Given the description of an element on the screen output the (x, y) to click on. 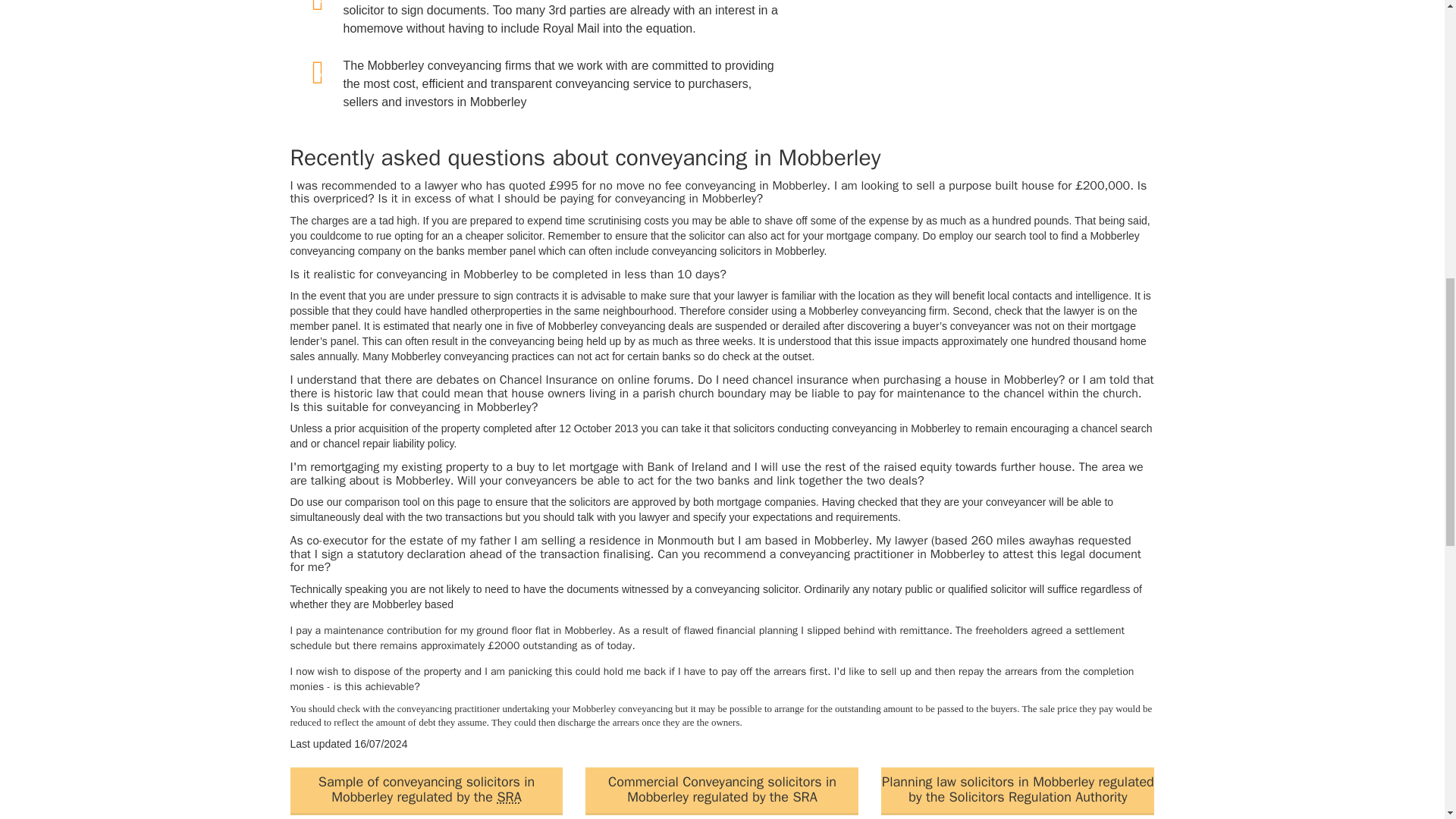
Solicitors Regulatory Authority (508, 796)
